Given the description of an element on the screen output the (x, y) to click on. 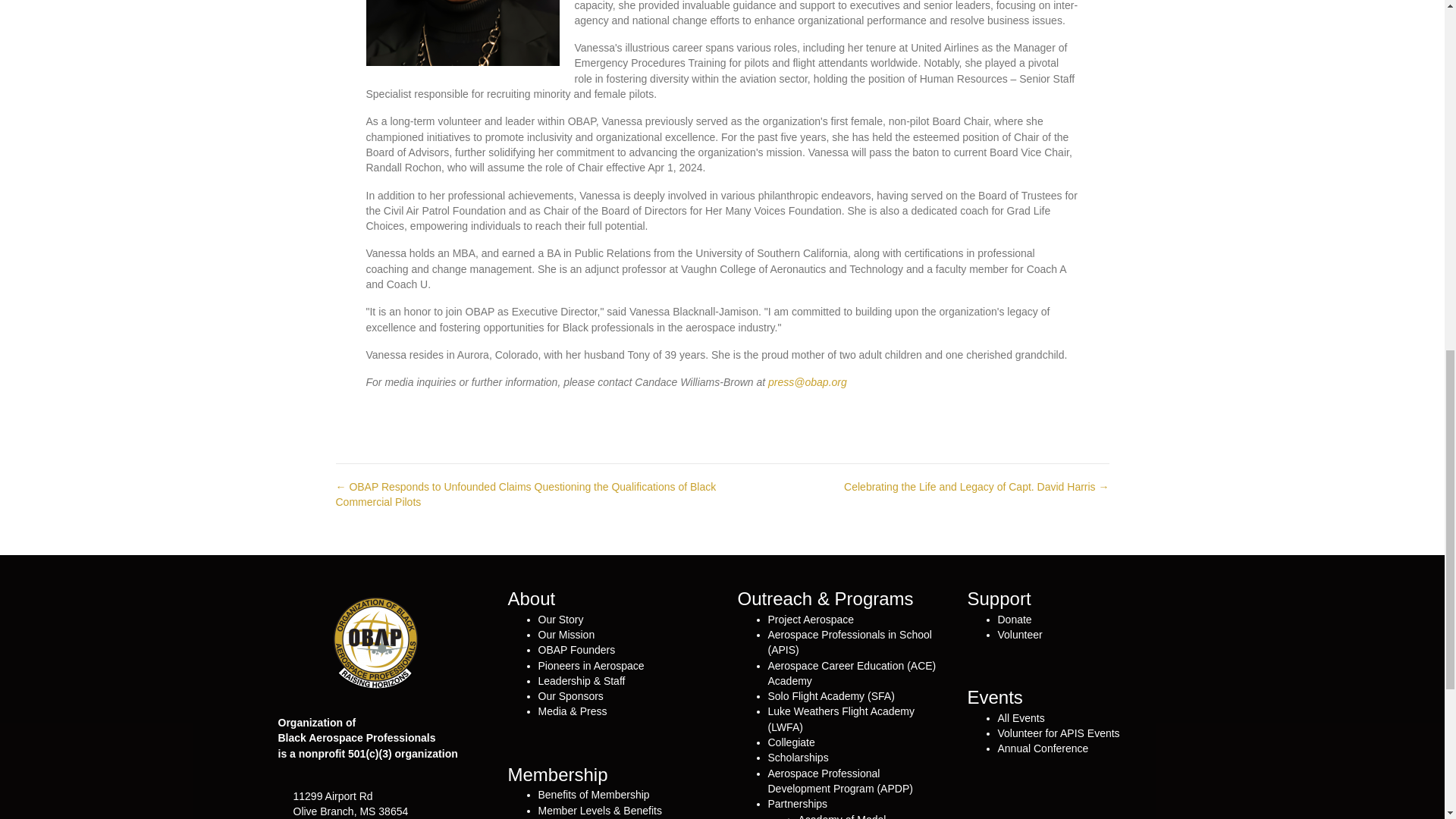
Membership (558, 774)
Support (999, 598)
About (532, 598)
